Given the description of an element on the screen output the (x, y) to click on. 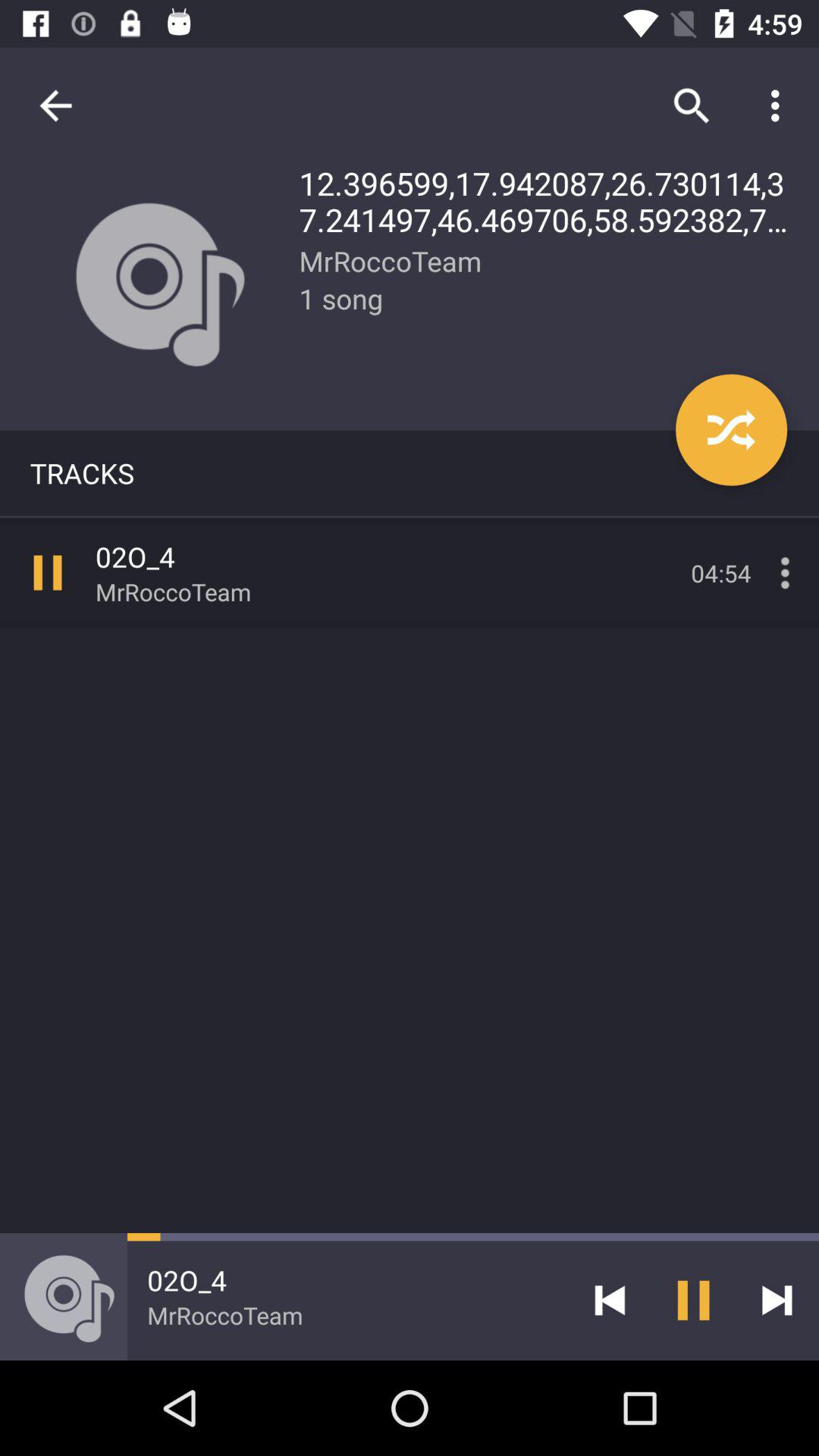
select icon to the right of the 02o_4 (609, 1300)
